Given the description of an element on the screen output the (x, y) to click on. 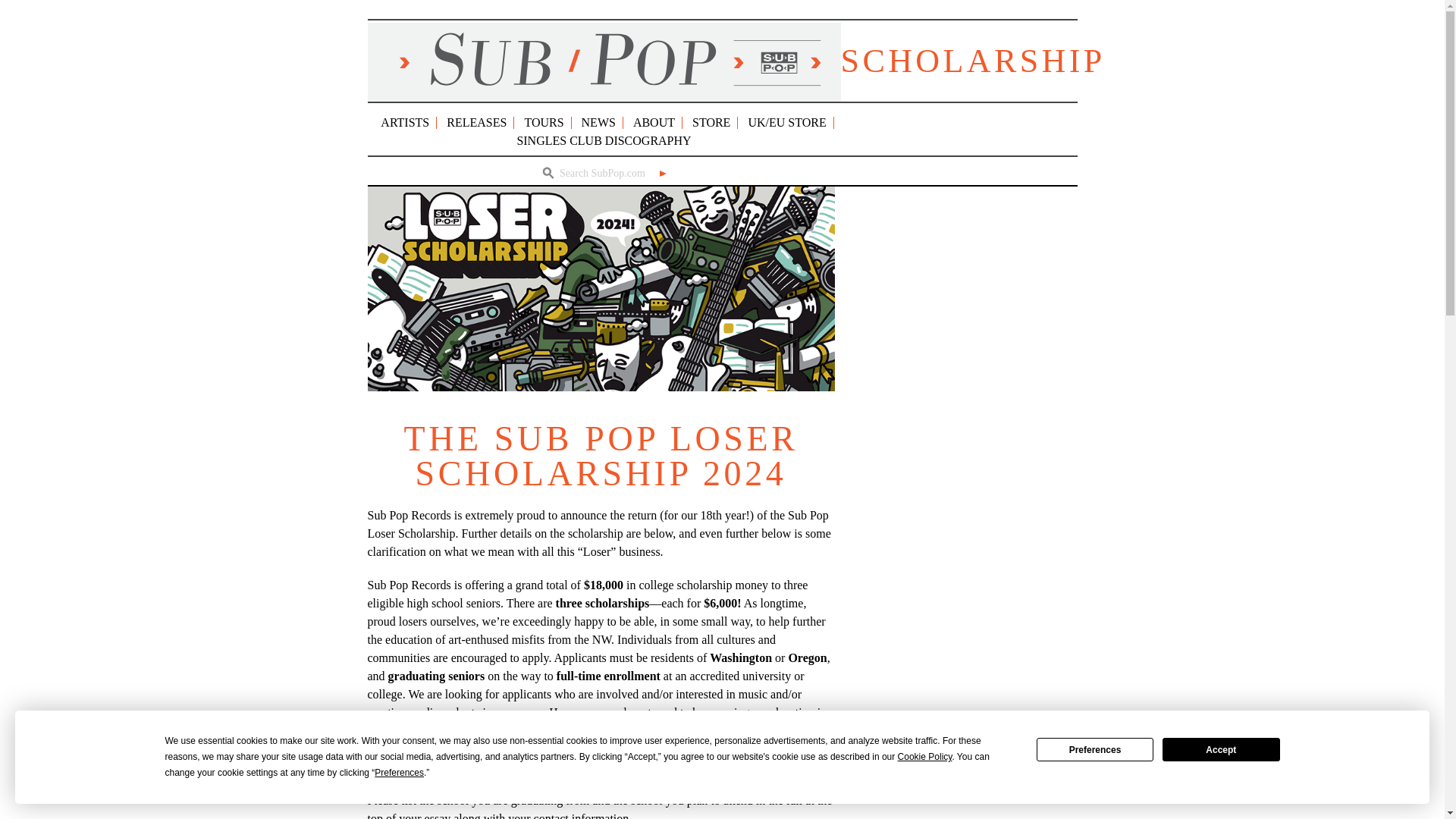
TOURS (543, 122)
RELEASES (476, 122)
Accept (1220, 749)
NEWS (597, 122)
ABOUT (654, 122)
STORE (711, 122)
SINGLES CLUB DISCOGRAPHY (603, 140)
Shop at the Megamart (711, 122)
Preferences (1094, 749)
Sub Pop homepage (603, 61)
ARTISTS (404, 122)
